Given the description of an element on the screen output the (x, y) to click on. 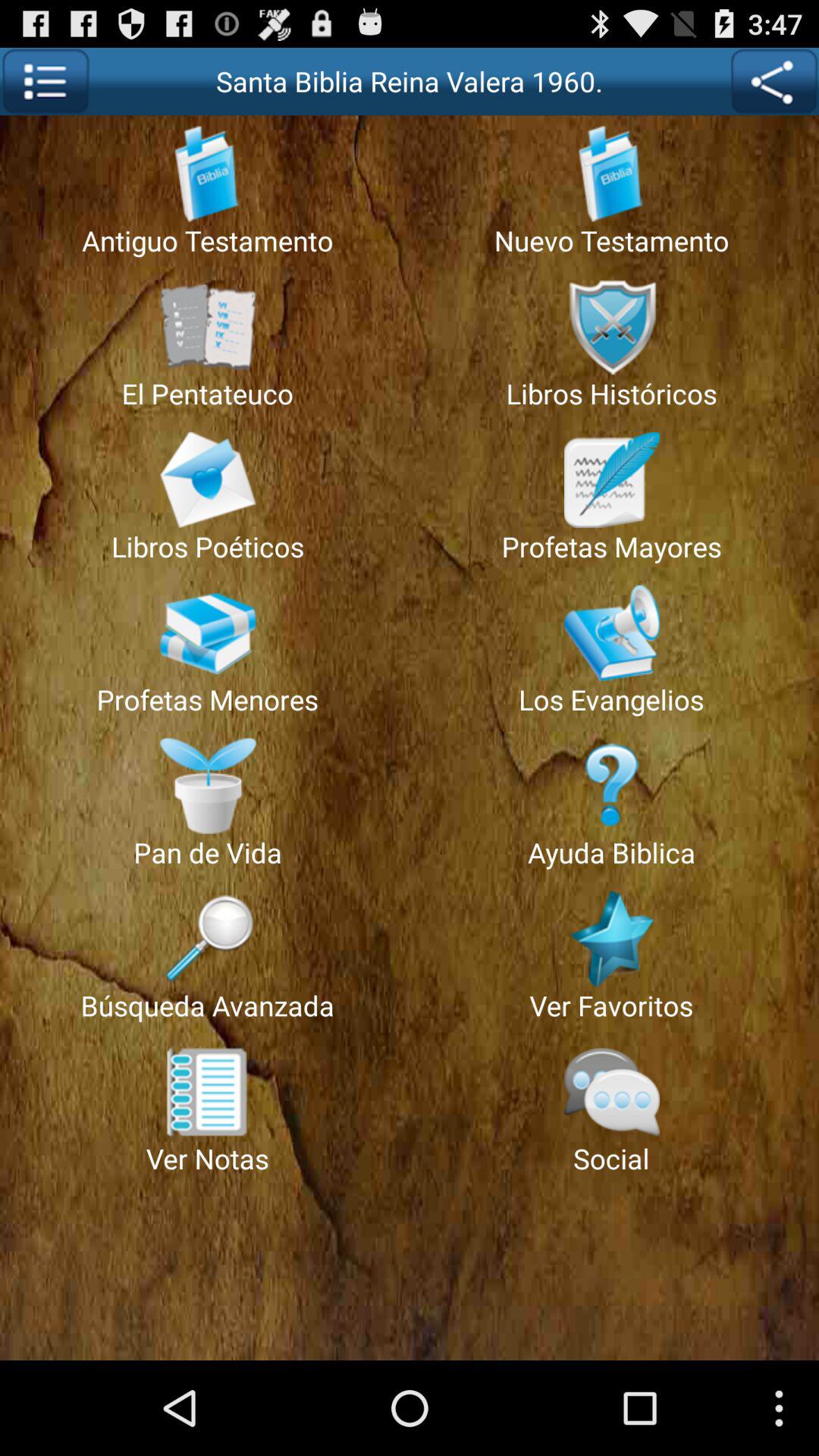
share the article (773, 81)
